Given the description of an element on the screen output the (x, y) to click on. 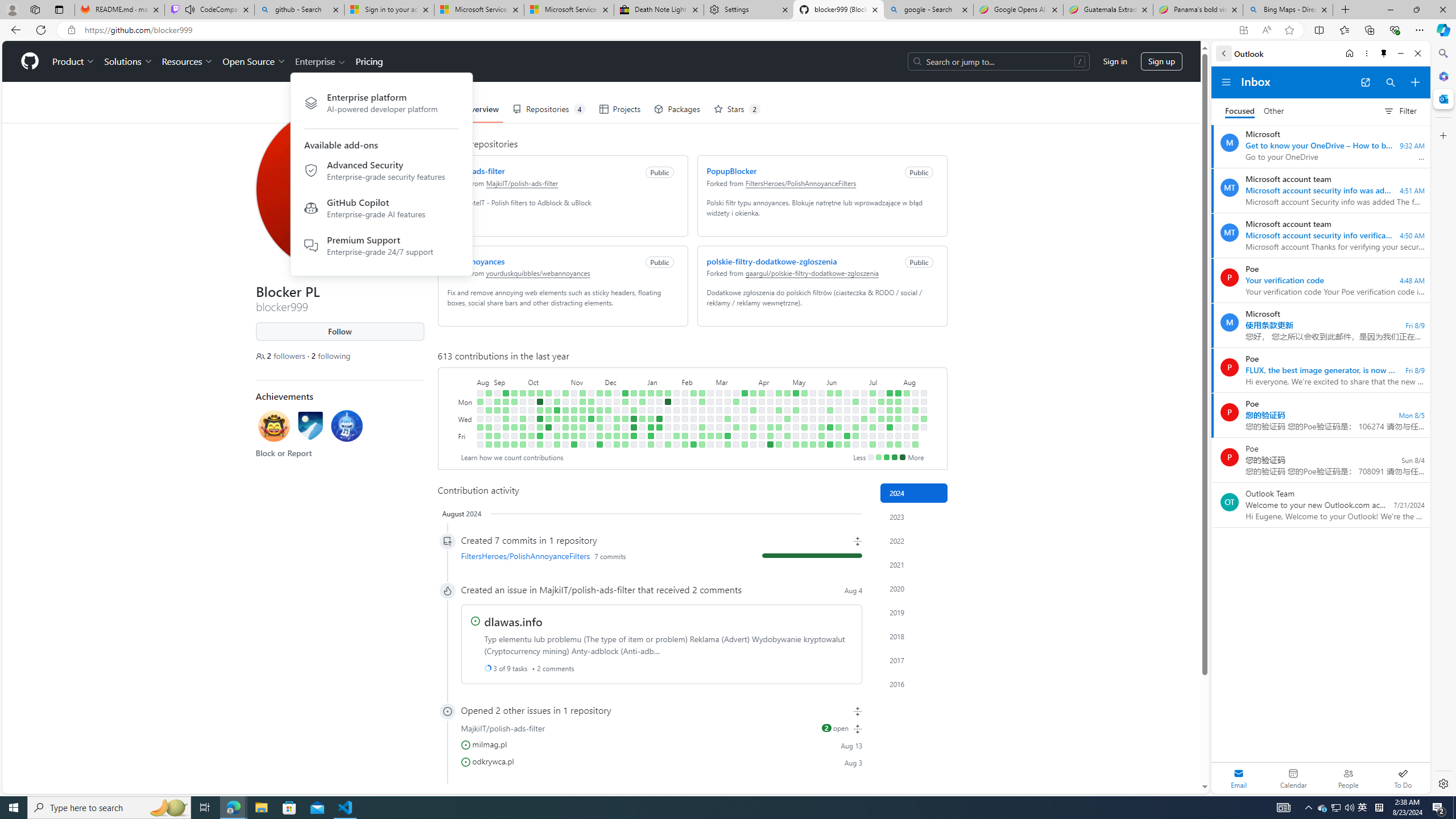
No contributions on February 12th. (693, 401)
No contributions on September 19th. (513, 410)
1 contribution on July 31st. (897, 418)
No contributions on May 23rd. (812, 427)
4 contributions on December 20th. (624, 418)
No contributions on December 21st. (624, 427)
5 contributions on April 4th. (753, 427)
3 contributions on November 12th. (582, 392)
milmag.plThis contribution was made on Aug 13 (661, 743)
Premium SupportEnterprise-grade 24/7 support (381, 245)
FiltersHeroes/PolishAnnoyanceFilters (524, 555)
1 contribution on December 22nd. (624, 435)
2 contributions on November 29th. (598, 418)
No contributions on July 4th. (863, 427)
No contributions on April 6th. (753, 444)
